Given the description of an element on the screen output the (x, y) to click on. 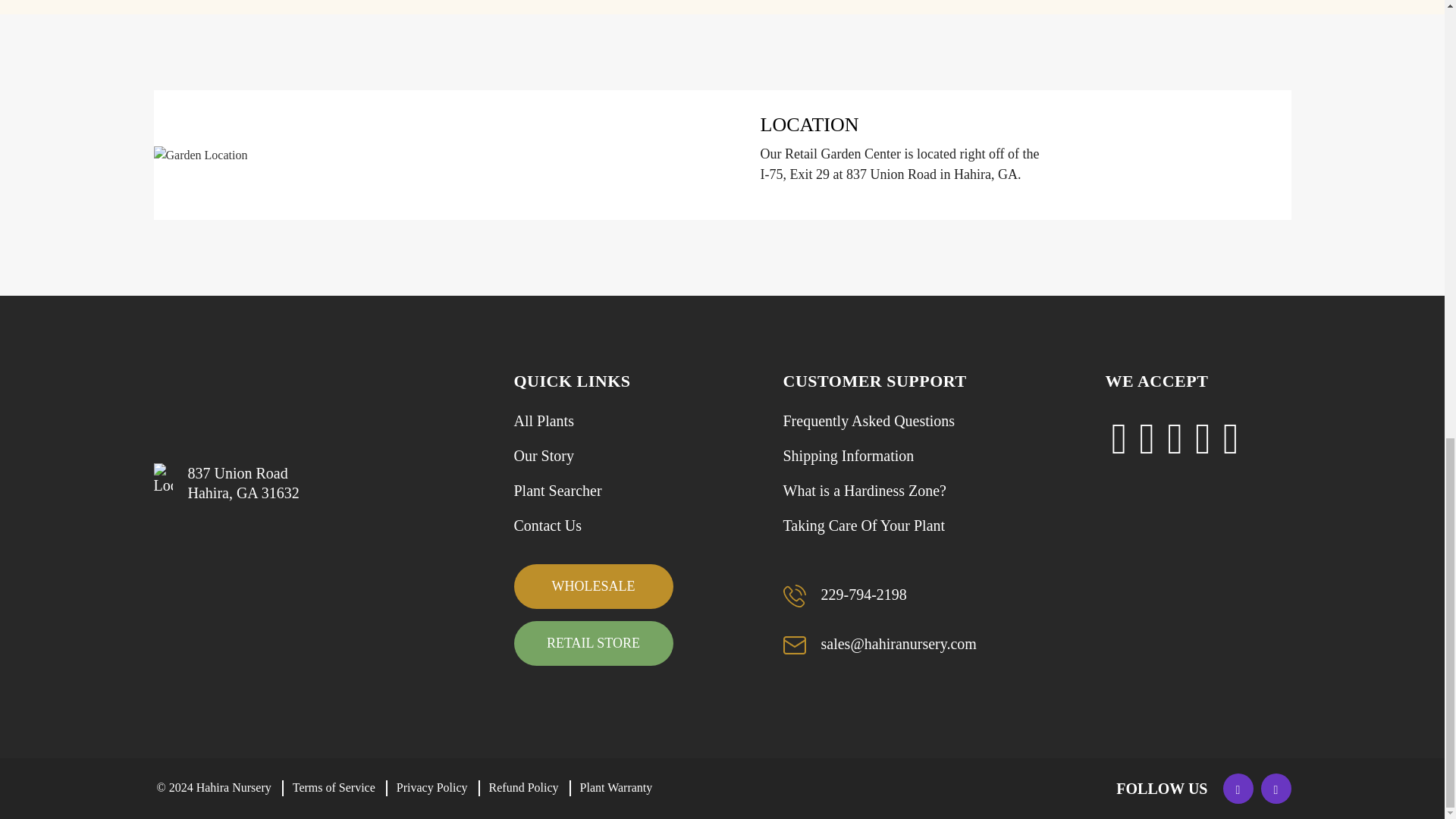
Taking Care Of Your Plant (863, 525)
Contact Us (546, 525)
All Plants (543, 420)
What is a Hardiness Zone? (863, 490)
RETAIL STORE (592, 642)
Shipping Information (848, 455)
229-794-2198 (844, 595)
Frequently Asked Questions (869, 420)
WHOLESALE (592, 586)
Refund Policy (524, 788)
